Given the description of an element on the screen output the (x, y) to click on. 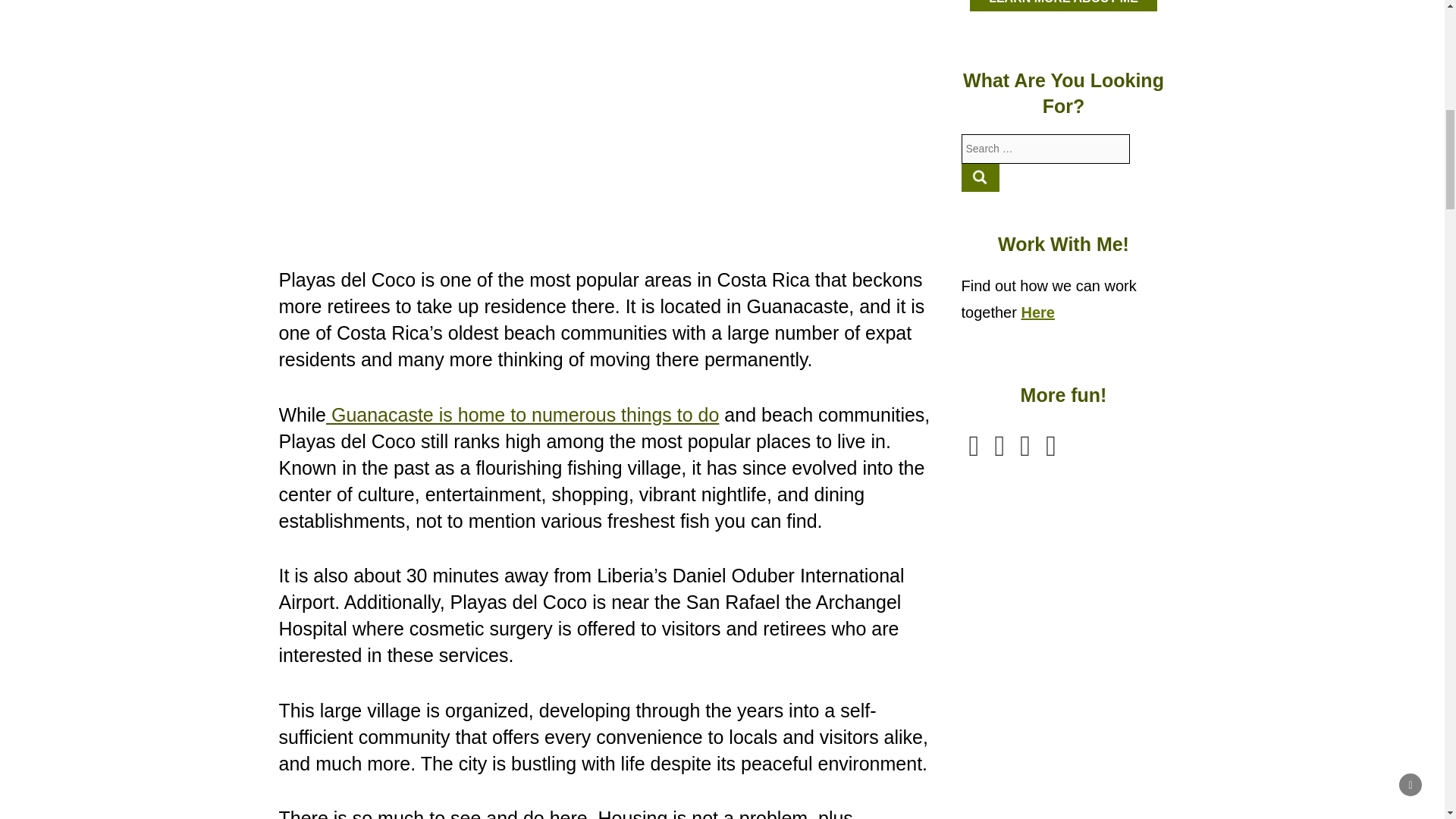
Search for: (1045, 148)
Search (980, 177)
Search (980, 177)
